Given the description of an element on the screen output the (x, y) to click on. 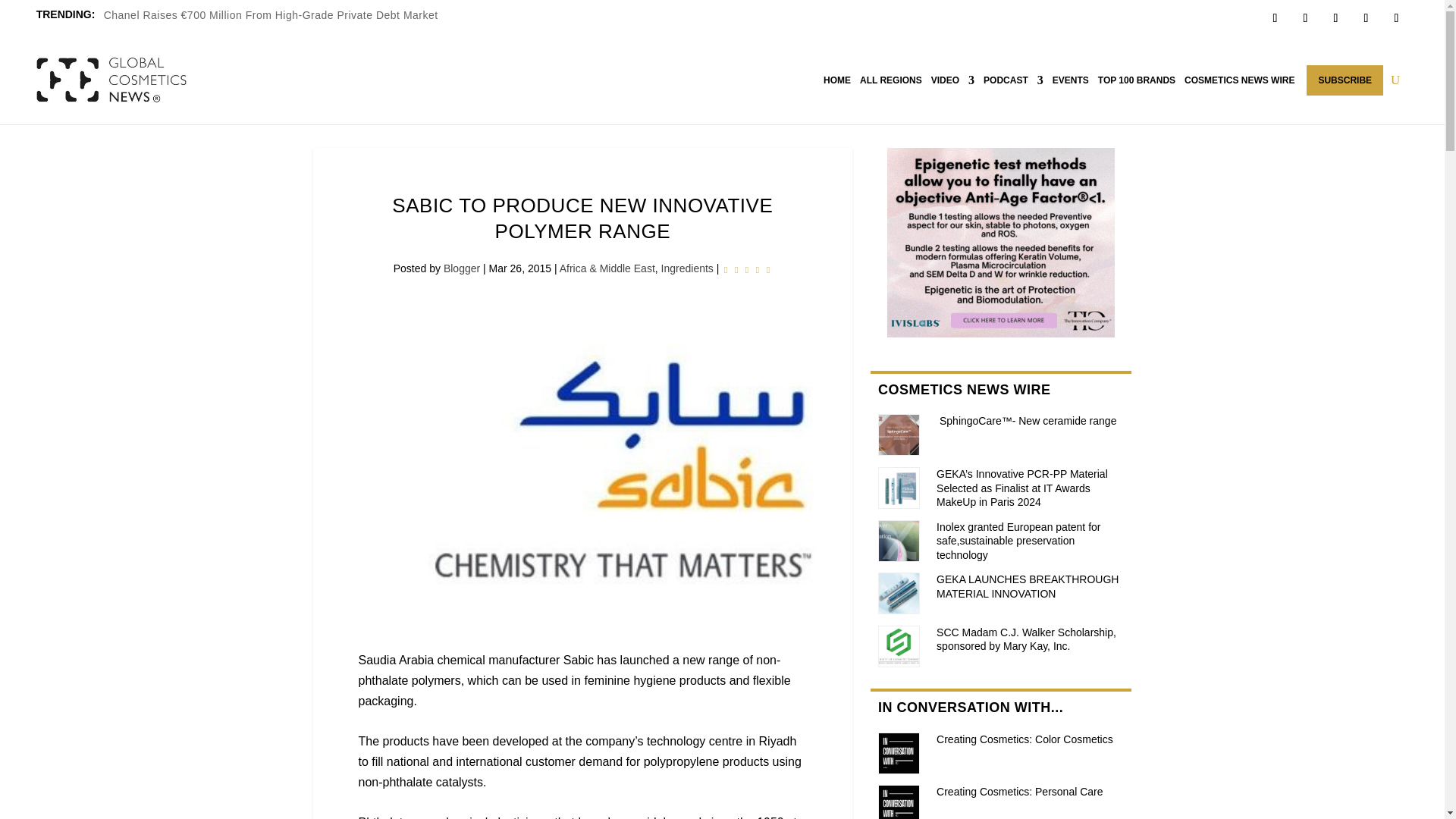
Follow on Instagram (1335, 17)
Follow on X (1304, 17)
Rating: 0.00 (746, 269)
PODCAST (1013, 79)
Follow on Facebook (1274, 17)
ALL REGIONS (890, 79)
Follow on LinkedIn (1365, 17)
Posts by Blogger (462, 268)
Follow on Youtube (1395, 17)
SUBSCRIBE (1344, 80)
